Given the description of an element on the screen output the (x, y) to click on. 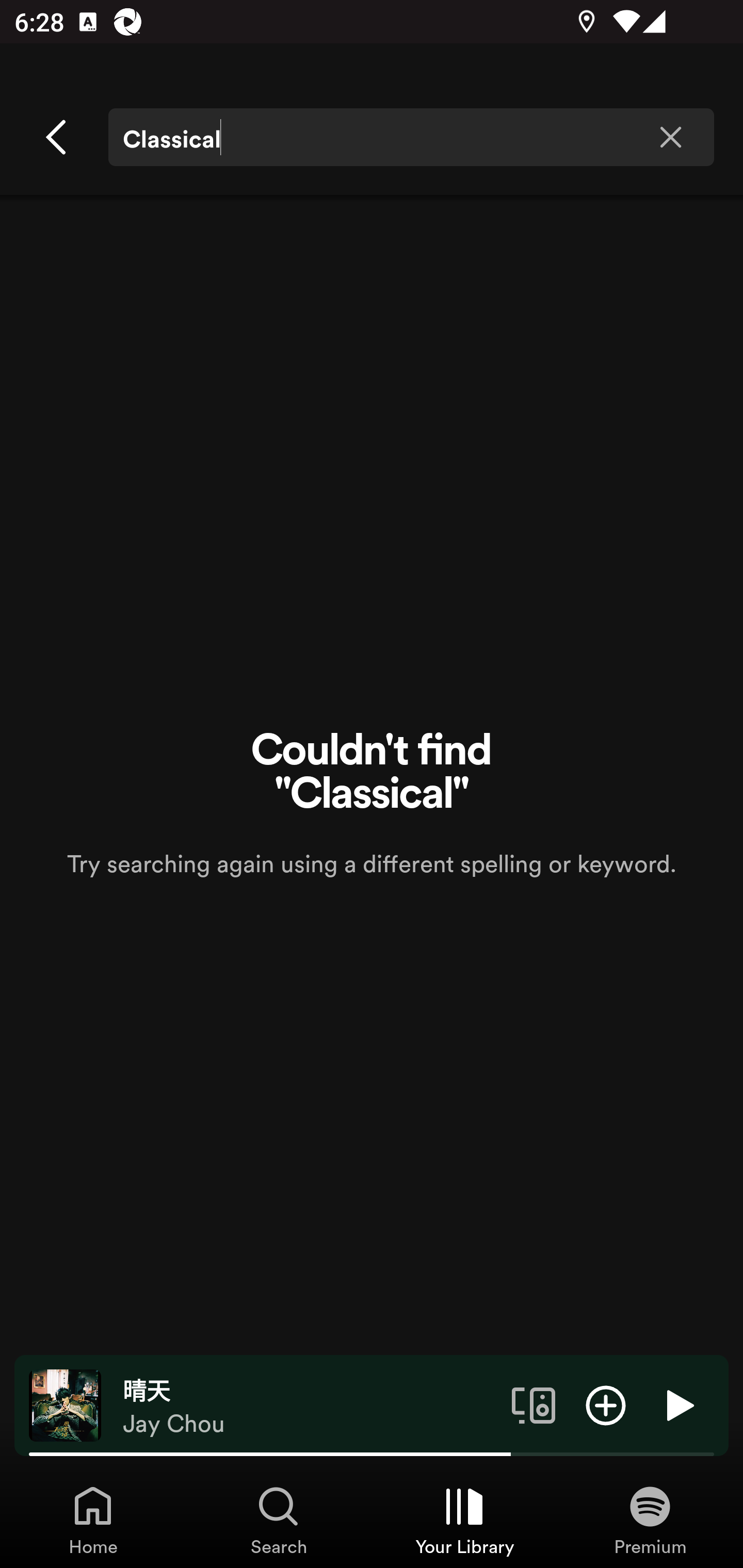
Cancel (57, 137)
Classical (411, 137)
Clear (670, 137)
晴天 Jay Chou (309, 1405)
The cover art of the currently playing track (64, 1404)
Connect to a device. Opens the devices menu (533, 1404)
Add item (605, 1404)
Play (677, 1404)
Home, Tab 1 of 4 Home Home (92, 1519)
Search, Tab 2 of 4 Search Search (278, 1519)
Your Library, Tab 3 of 4 Your Library Your Library (464, 1519)
Premium, Tab 4 of 4 Premium Premium (650, 1519)
